Given the description of an element on the screen output the (x, y) to click on. 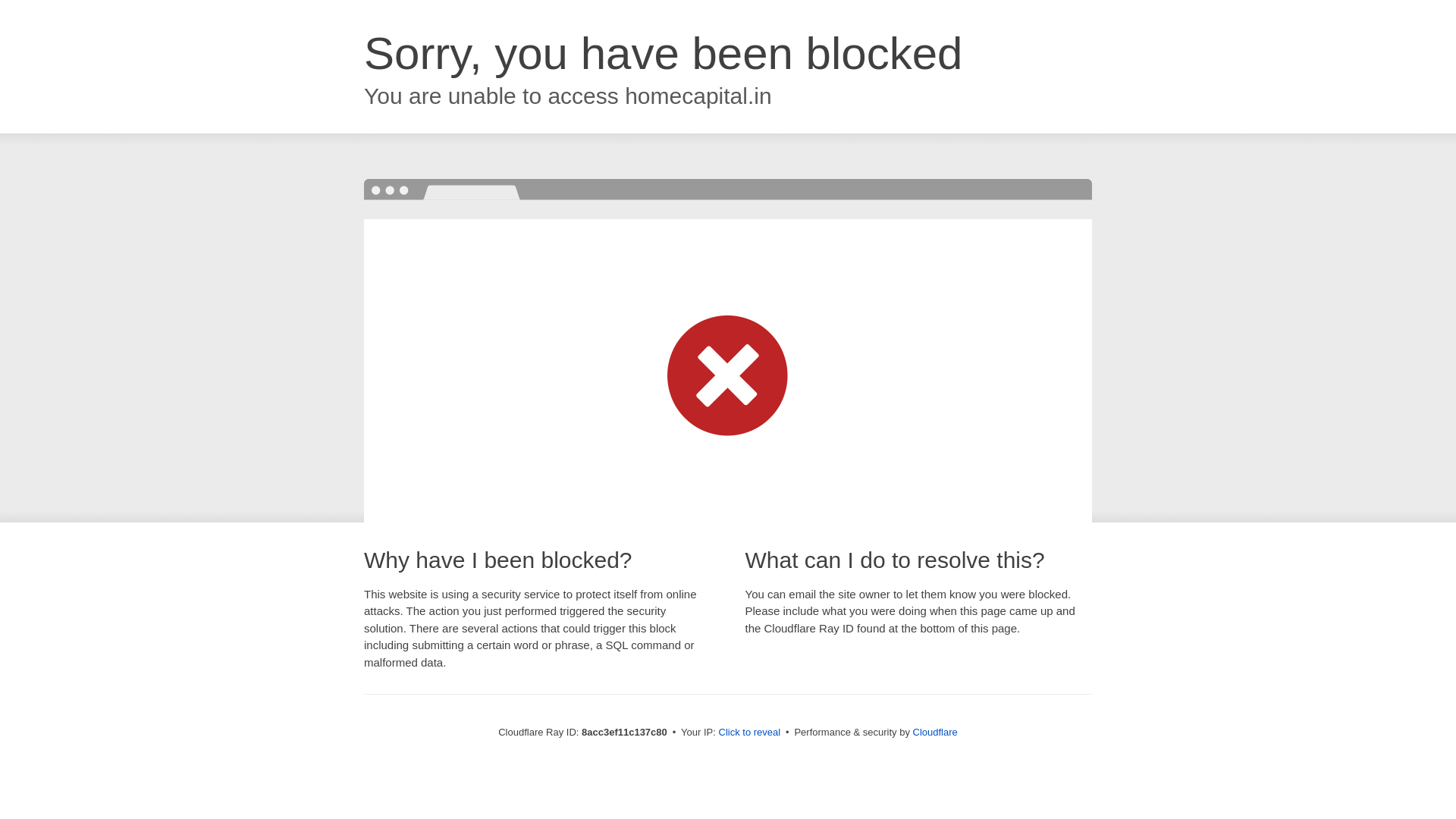
Click to reveal (749, 732)
Cloudflare (935, 731)
